Given the description of an element on the screen output the (x, y) to click on. 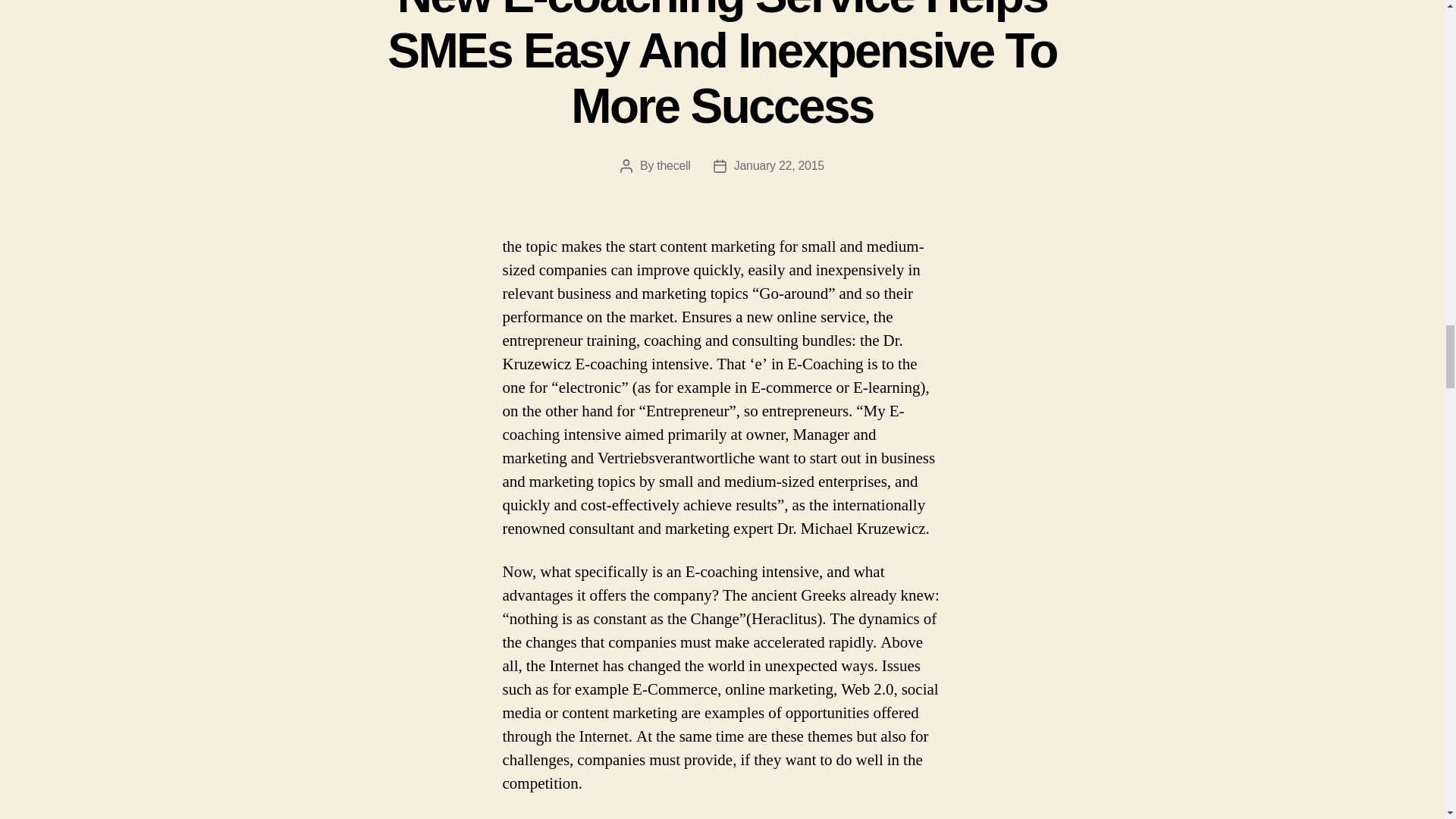
January 22, 2015 (778, 164)
thecell (673, 164)
